Given the description of an element on the screen output the (x, y) to click on. 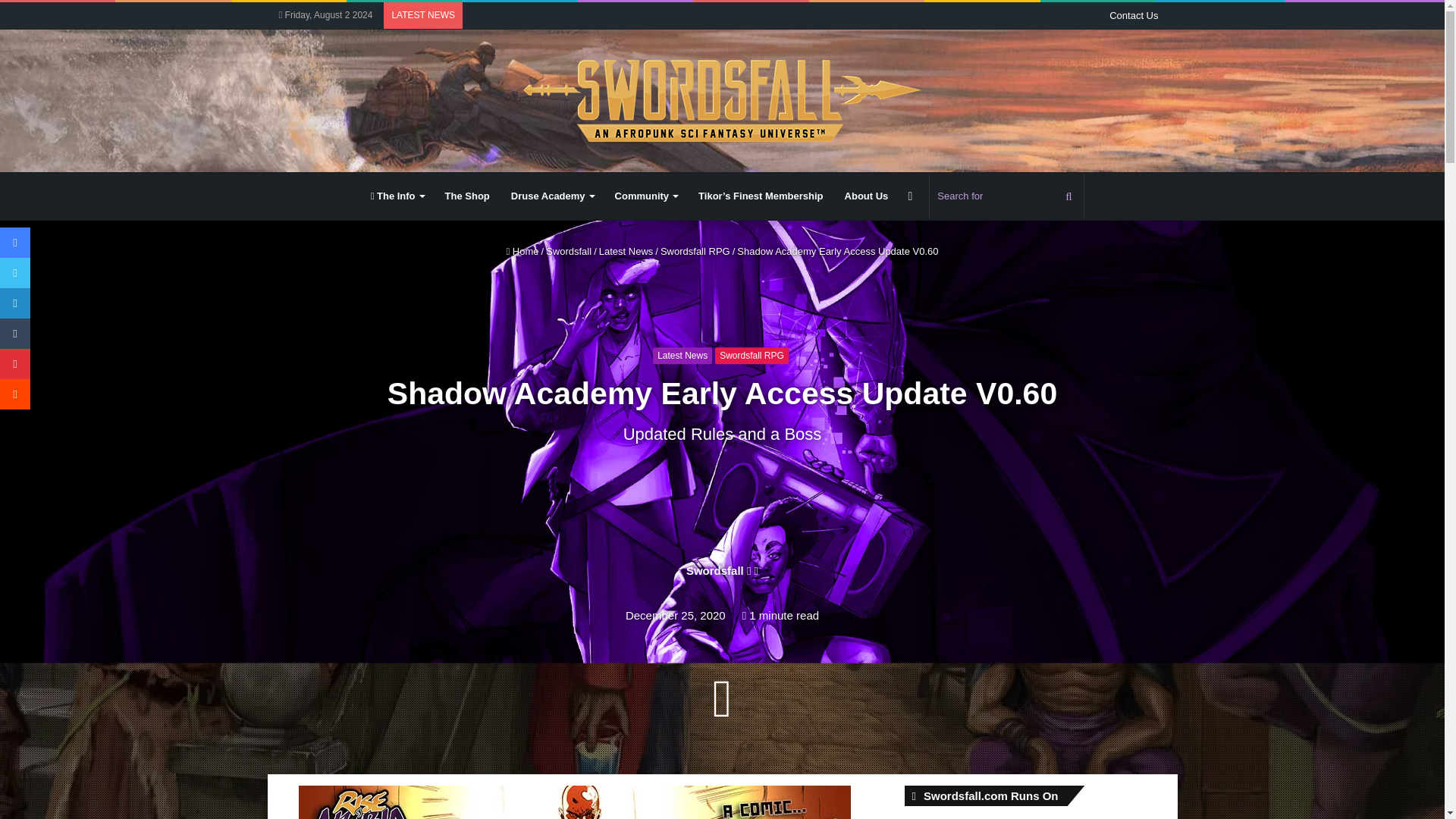
Contact Us (1134, 15)
Swordsfall (721, 100)
The Shop (466, 196)
Swordsfall (714, 570)
Druse Academy (552, 196)
Community (646, 196)
Search for (1006, 196)
The Info (396, 196)
